Given the description of an element on the screen output the (x, y) to click on. 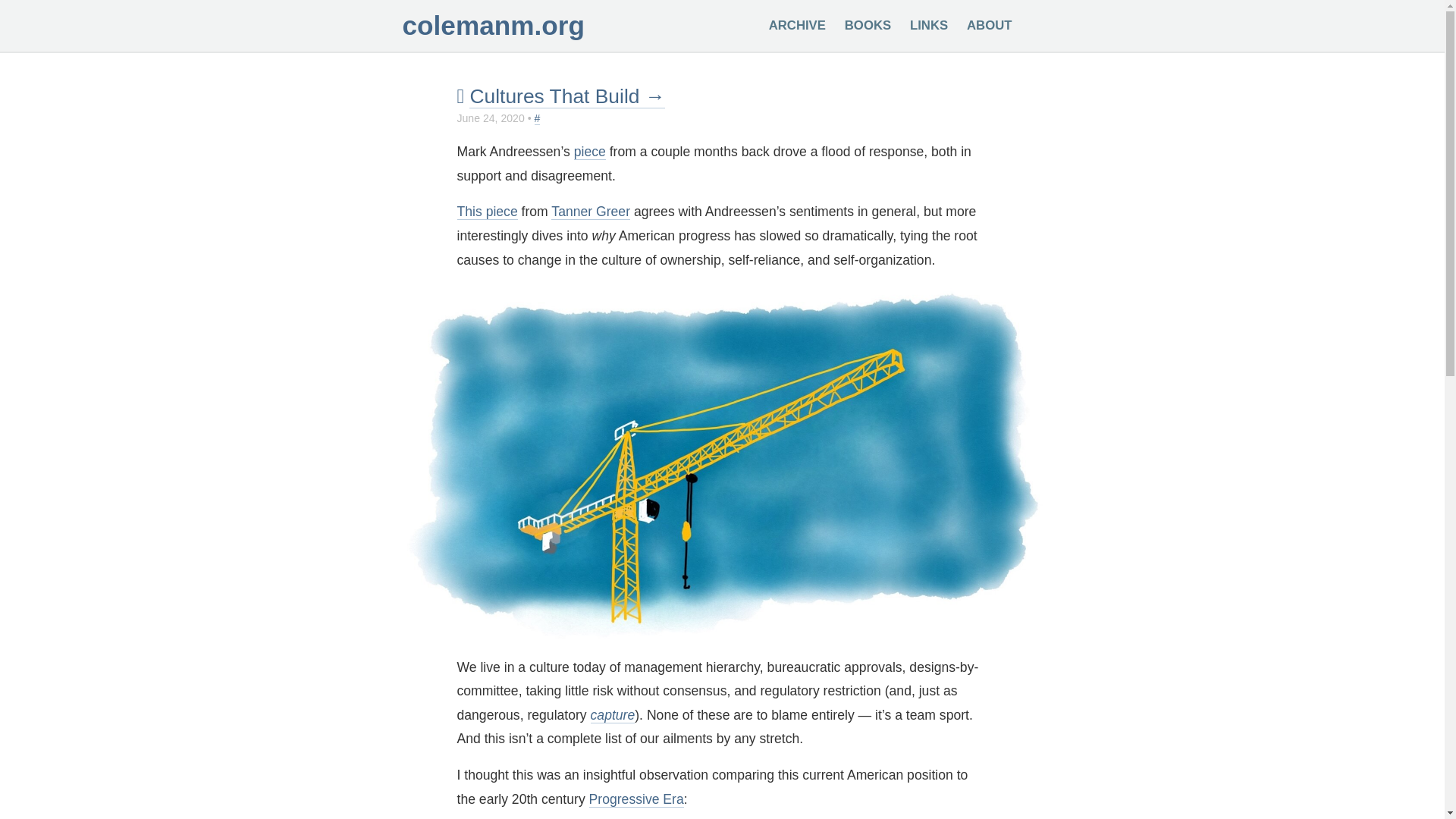
It's Time to Build (589, 151)
Progressive Era (636, 799)
LINKS (928, 25)
capture (612, 715)
ARCHIVE (796, 25)
This piece (486, 211)
ABOUT (988, 25)
Progressive Era (636, 799)
On Cultures That Build (486, 211)
Tanner Greer (590, 211)
